Given the description of an element on the screen output the (x, y) to click on. 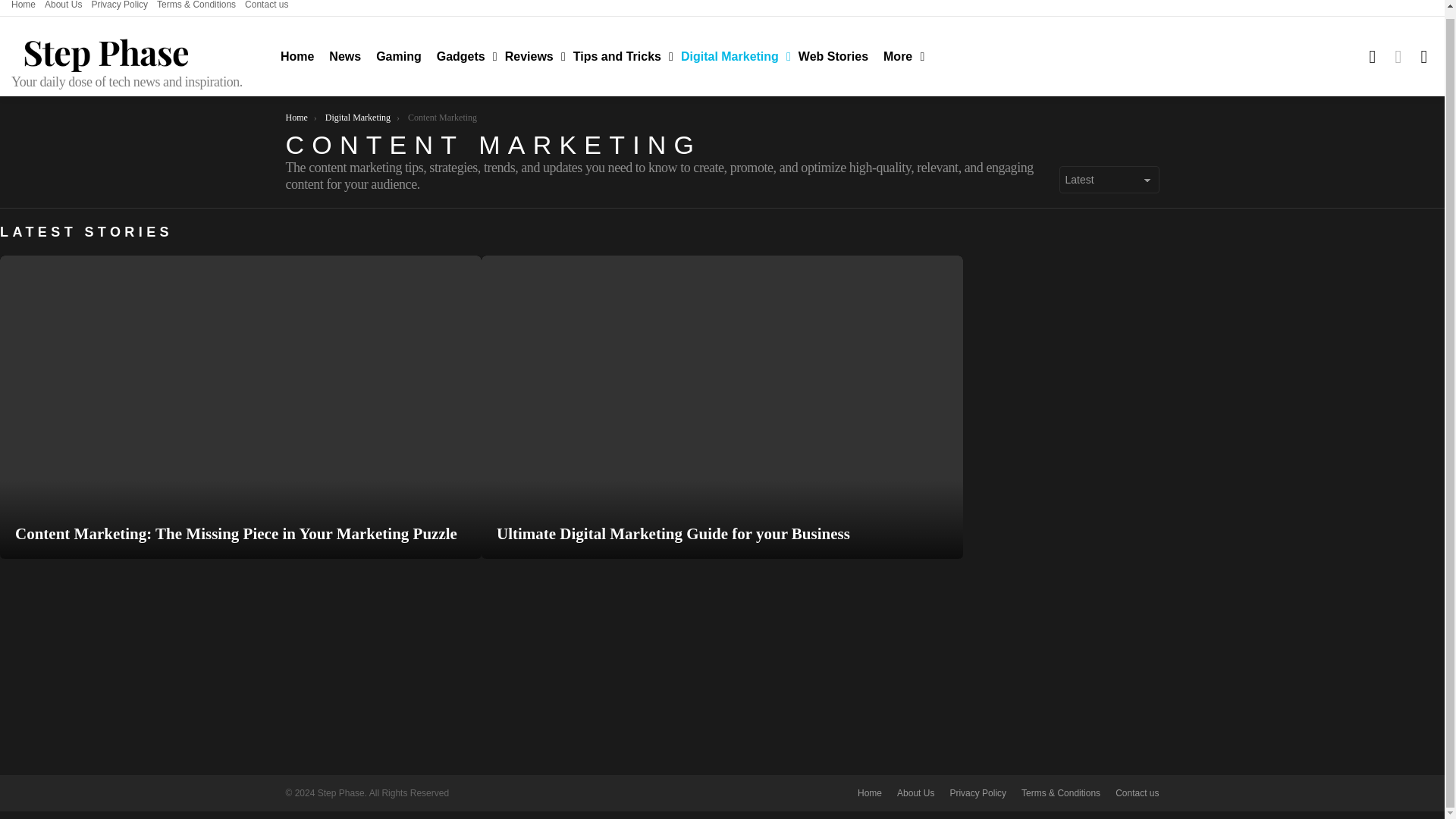
News (344, 56)
Digital Marketing (731, 56)
Reviews (531, 56)
Gaming (398, 56)
Web Stories (833, 56)
Gadgets (463, 56)
Home (22, 8)
Home (297, 56)
